Given the description of an element on the screen output the (x, y) to click on. 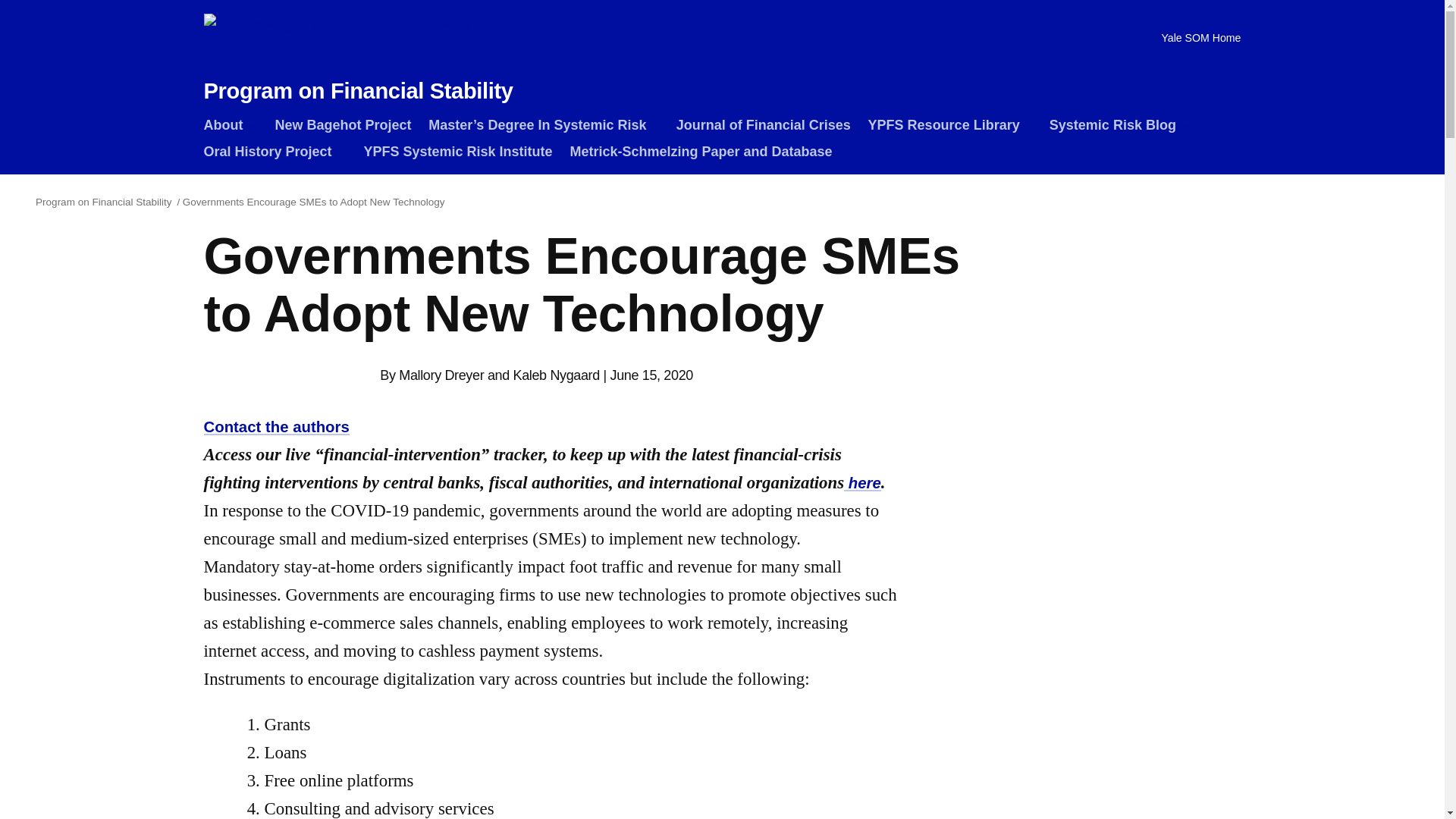
YPFS Resource Library (949, 126)
Program on Financial Stability (104, 202)
YPFS Systemic Risk Institute (456, 153)
YPFS Systemic Risk Institute (456, 153)
Metrick-Schmelzing Paper and Database (700, 153)
here (862, 483)
Program on Financial Stability (358, 90)
New Bagehot Project (342, 126)
Journal of Financial Crises (763, 126)
Metrick-Schmelzing Paper and Database (700, 153)
YPFS Resource Library (949, 126)
Yale SOM Home (1194, 37)
Contact the authors (276, 426)
New Bagehot Project (342, 126)
